Given the description of an element on the screen output the (x, y) to click on. 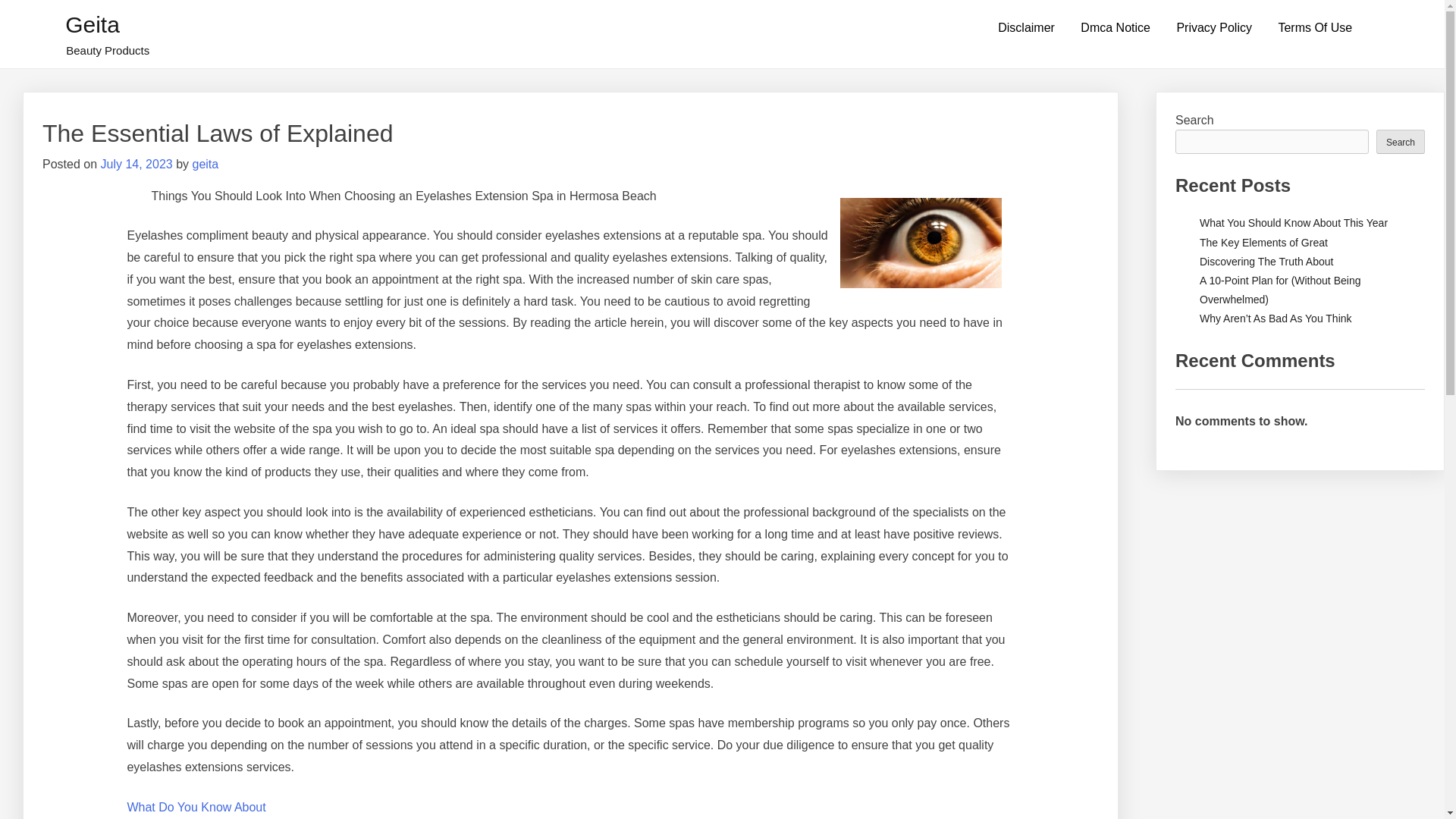
Discovering The Truth About (1266, 261)
Terms Of Use (1314, 28)
Dmca Notice (1114, 28)
Geita (92, 24)
Disclaimer (1026, 28)
The Key Elements of Great (1263, 242)
July 14, 2023 (135, 164)
geita (205, 164)
What Do You Know About (195, 807)
Privacy Policy (1213, 28)
What You Should Know About This Year (1293, 223)
Search (1400, 140)
